Given the description of an element on the screen output the (x, y) to click on. 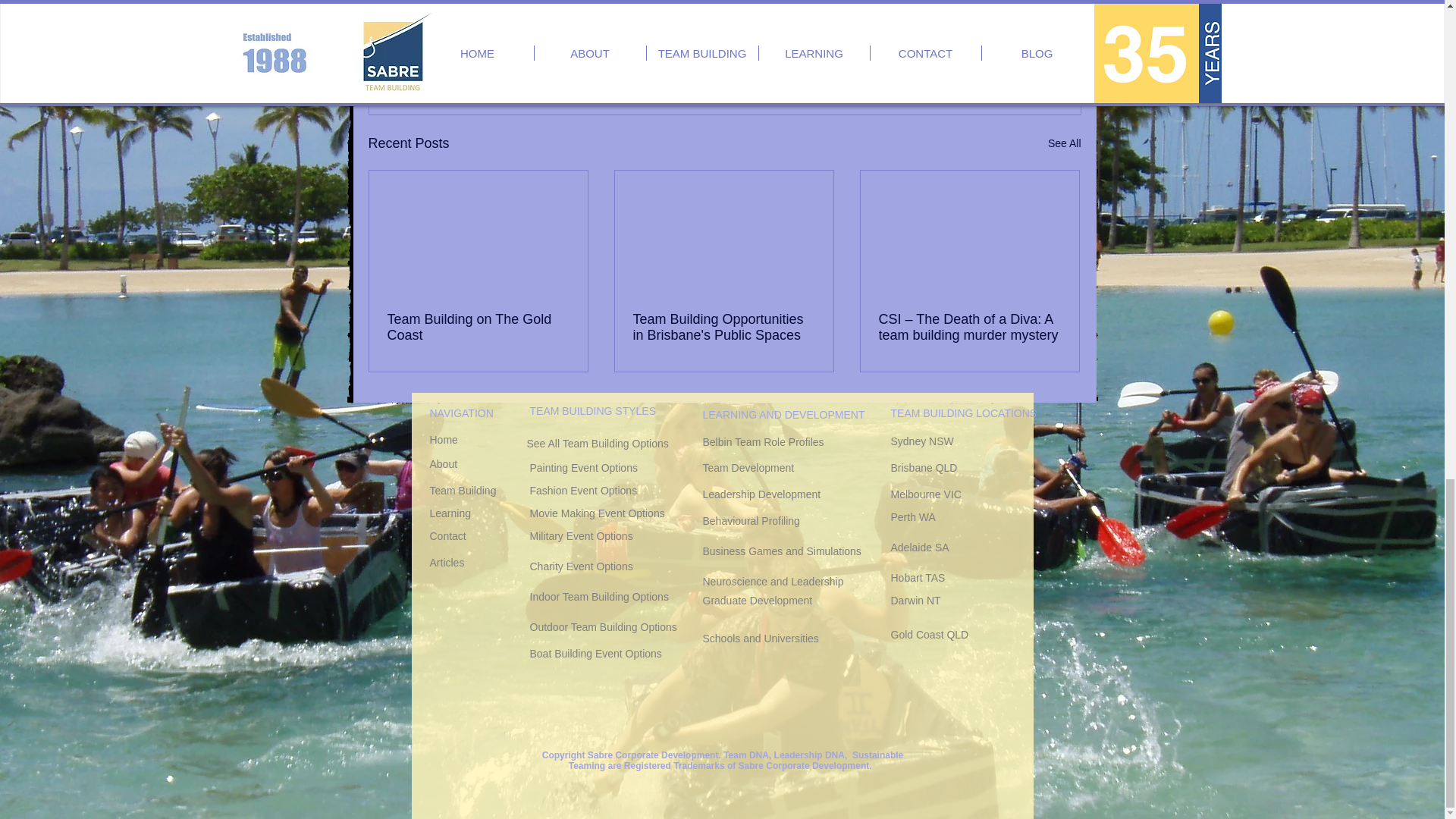
Team Building on The Gold Coast (478, 327)
See All (1064, 143)
